Given the description of an element on the screen output the (x, y) to click on. 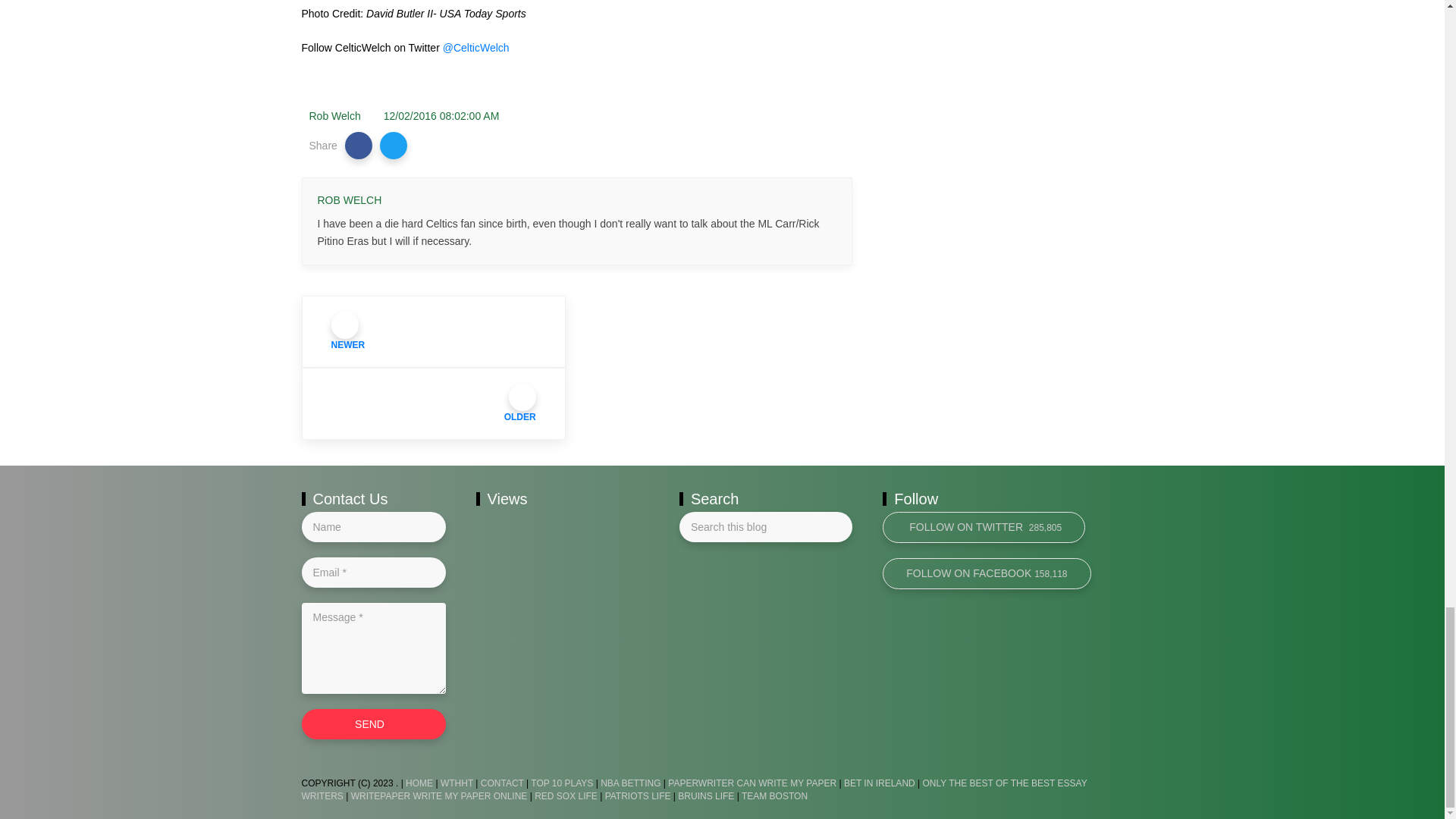
ROB WELCH (349, 200)
Share to Facebook (358, 144)
Share to Twitter (393, 144)
author profile (334, 115)
NEWER (433, 331)
author profile (349, 200)
permanent link (441, 115)
Rob Welch (334, 115)
OLDER (433, 403)
